Given the description of an element on the screen output the (x, y) to click on. 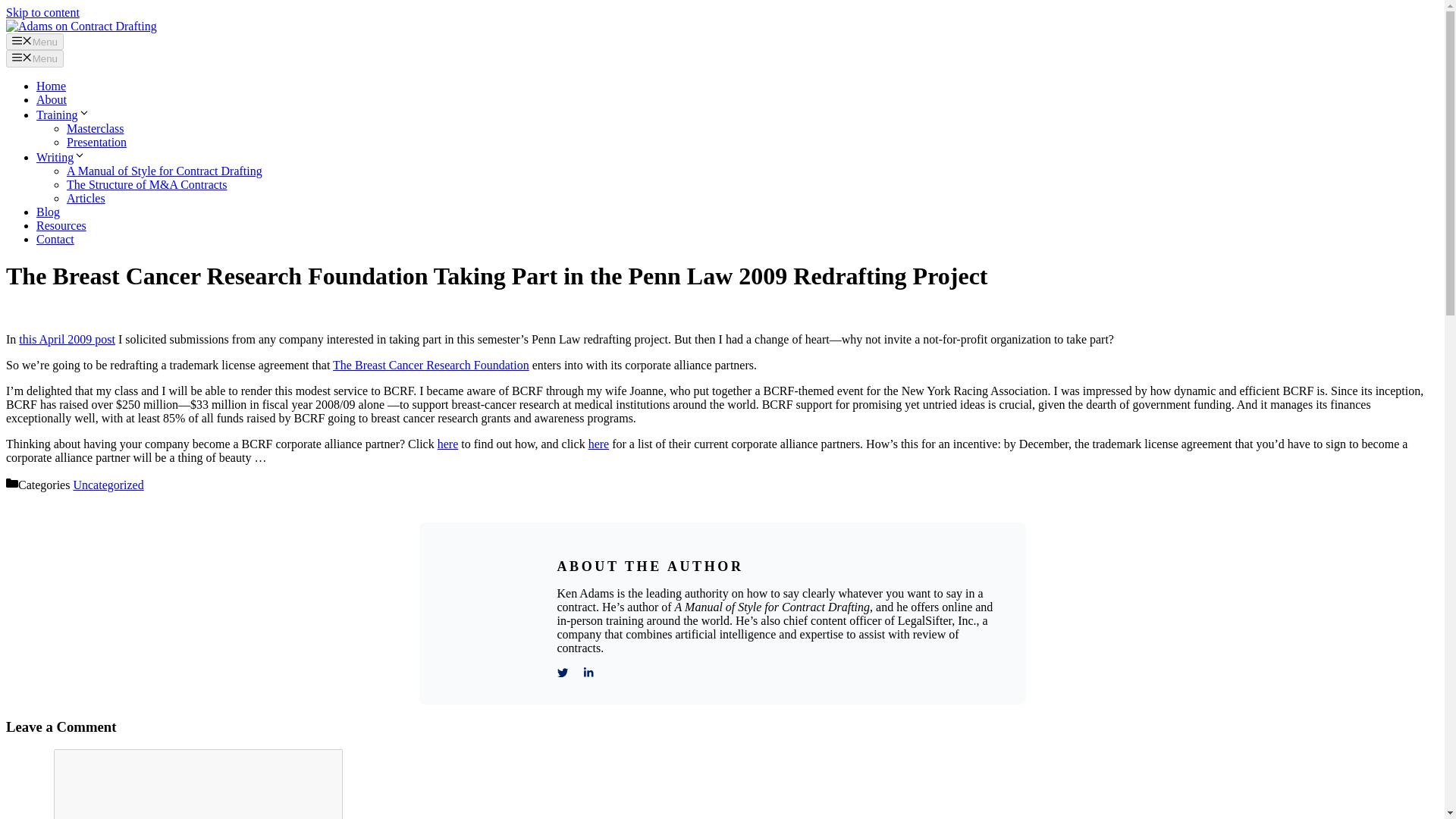
A Manual of Style for Contract Drafting (164, 170)
Skip to content (42, 11)
Menu (34, 57)
Home (50, 85)
Masterclass (94, 128)
Resources (60, 225)
Training (63, 114)
Blog (47, 211)
Articles (85, 197)
this April 2009 post (66, 338)
